Given the description of an element on the screen output the (x, y) to click on. 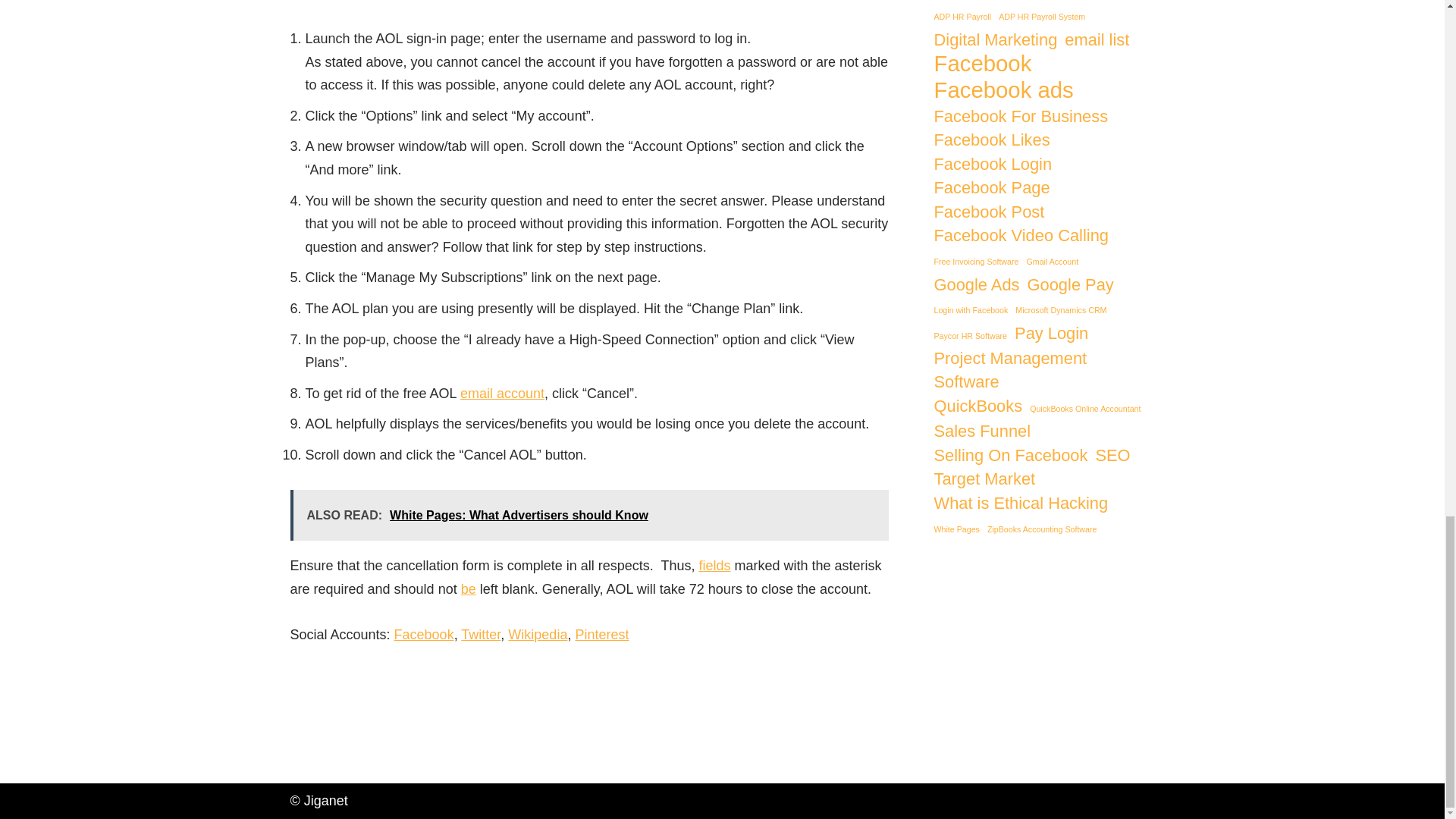
Pinterest (601, 634)
Twitter (480, 634)
Facebook (424, 634)
fields (714, 565)
be (468, 589)
ALSO READ:  White Pages: What Advertisers should Know (588, 515)
Wikipedia (537, 634)
email account (502, 393)
